Given the description of an element on the screen output the (x, y) to click on. 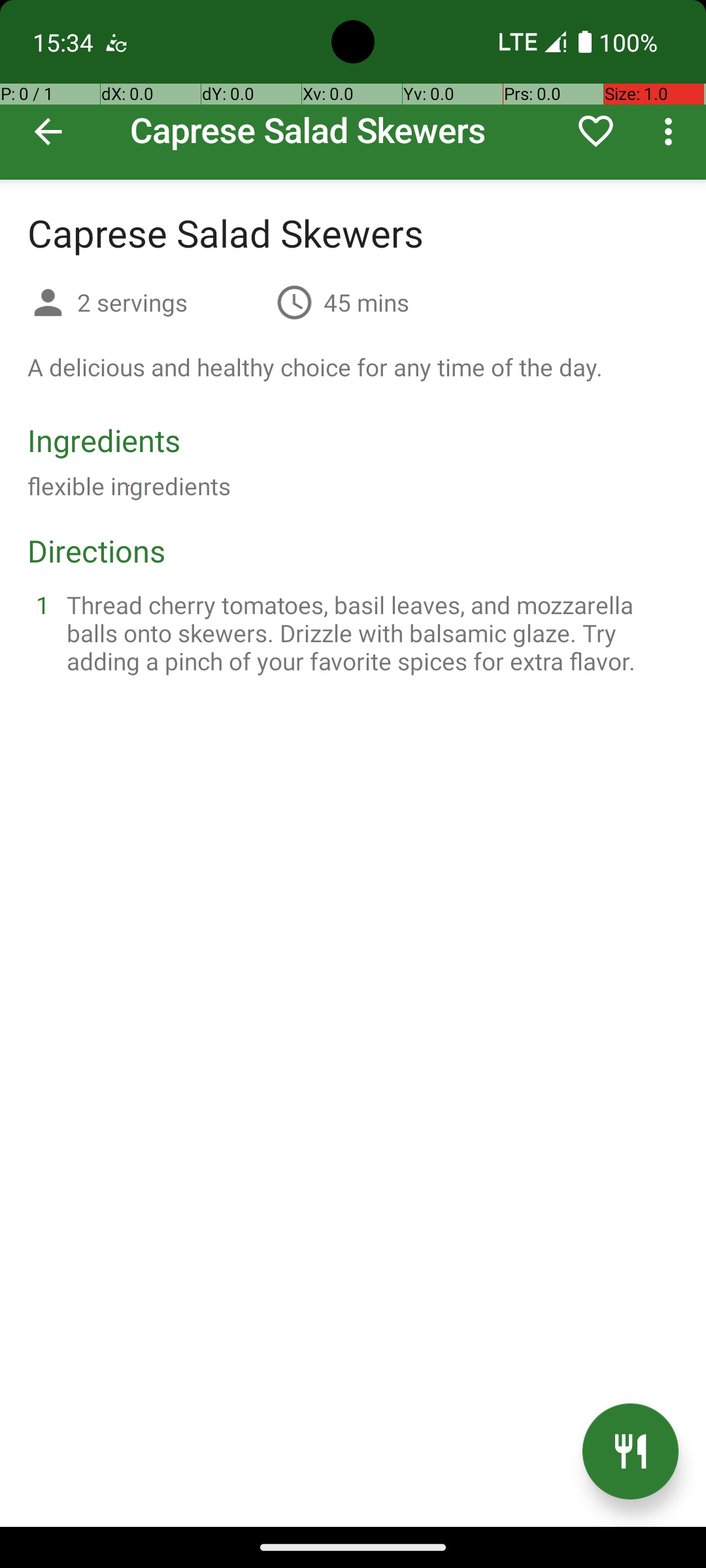
Thread cherry tomatoes, basil leaves, and mozzarella balls onto skewers. Drizzle with balsamic glaze. Try adding a pinch of your favorite spices for extra flavor. Element type: android.widget.TextView (368, 632)
